Given the description of an element on the screen output the (x, y) to click on. 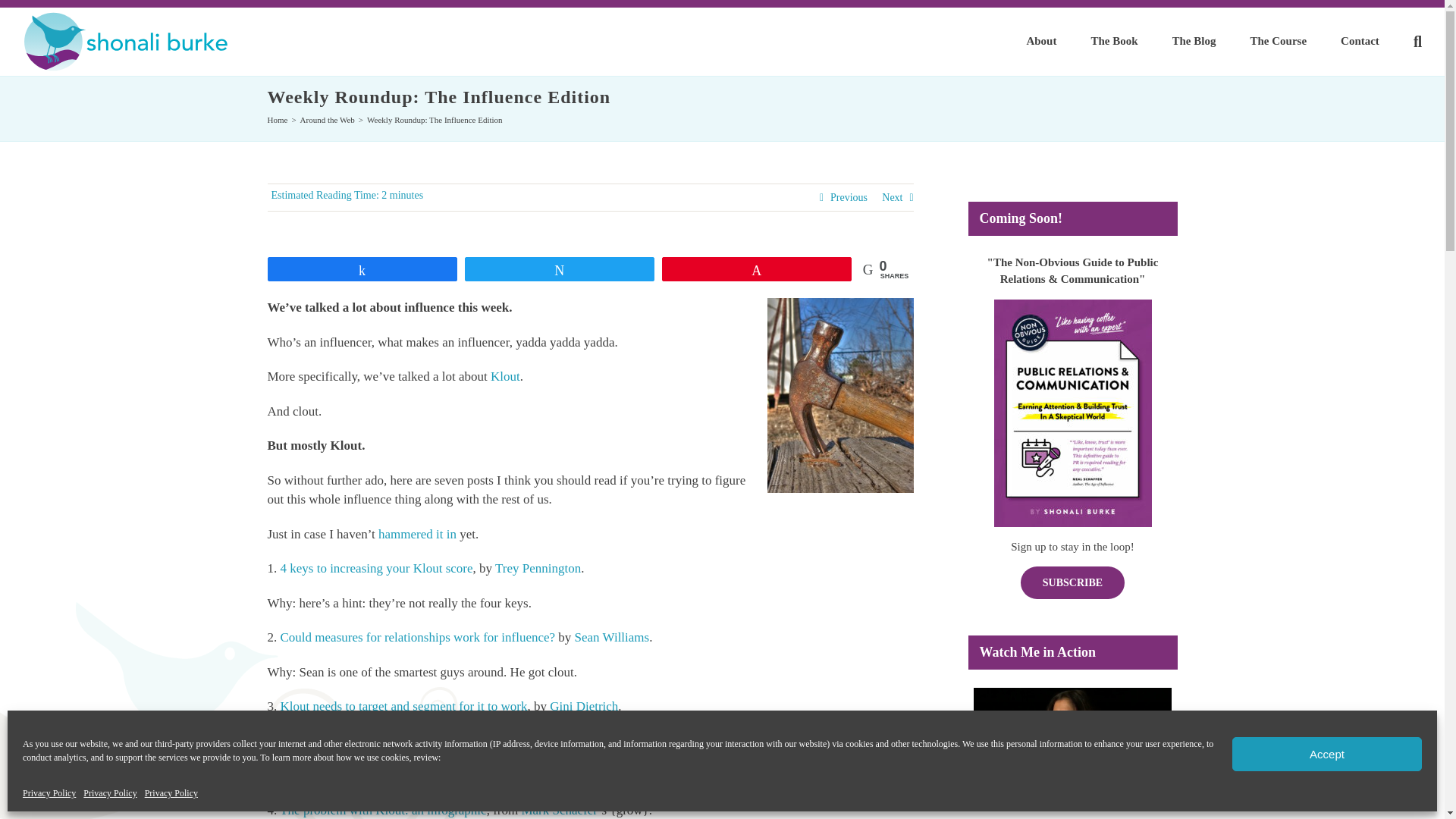
Home (276, 119)
Privacy Policy (109, 793)
Privacy Policy (171, 793)
Privacy Policy (49, 793)
Accept (1326, 754)
Around the Web (327, 119)
